Given the description of an element on the screen output the (x, y) to click on. 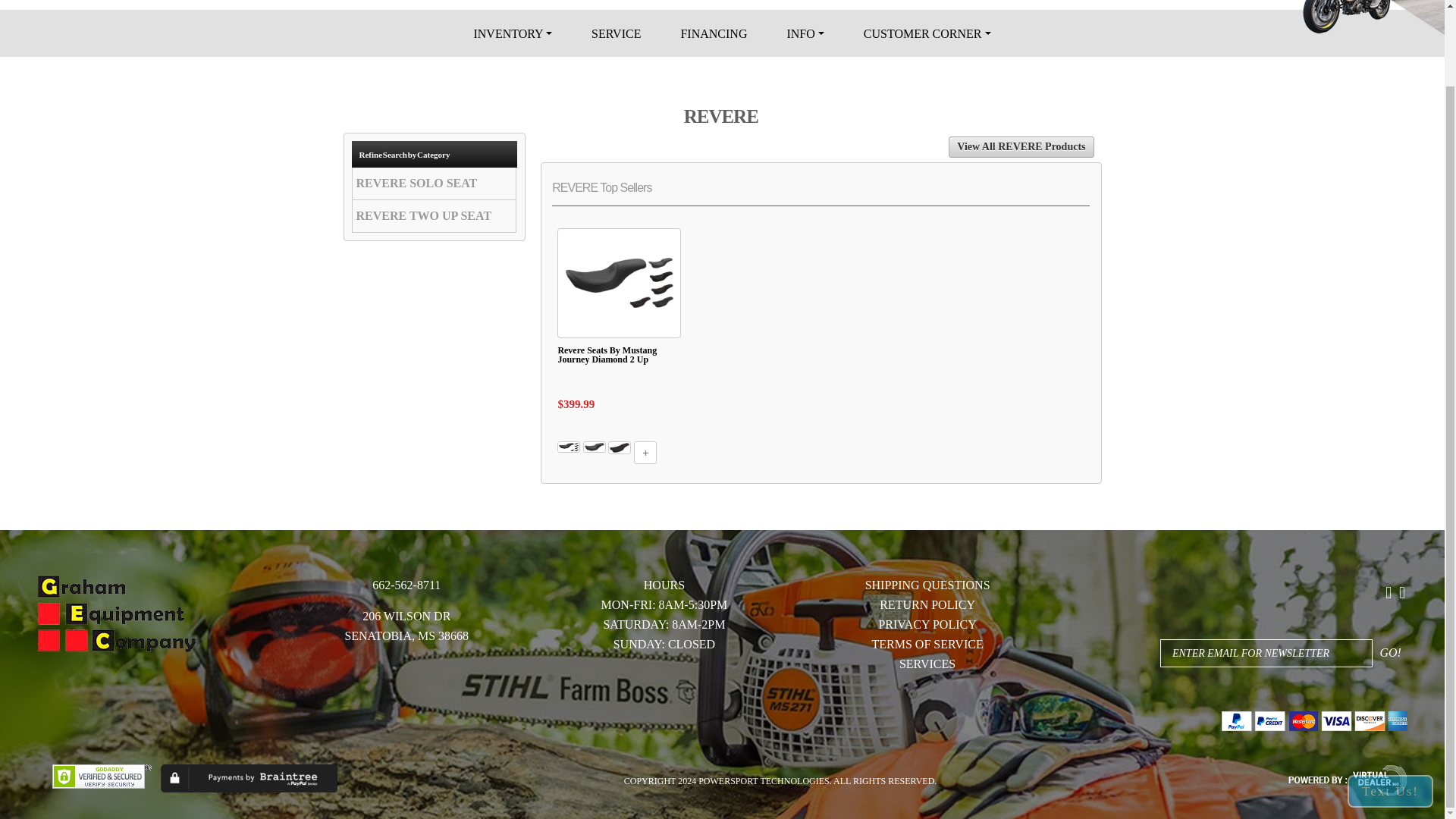
VD360 (1346, 780)
SERVICE (616, 32)
braintree gateway (248, 778)
more images (644, 452)
Go! (1390, 651)
CUSTOMER CORNER (917, 32)
fotor logo (116, 614)
FINANCING (714, 32)
INVENTORY (512, 32)
payment method (1314, 717)
INFO (805, 32)
